Given the description of an element on the screen output the (x, y) to click on. 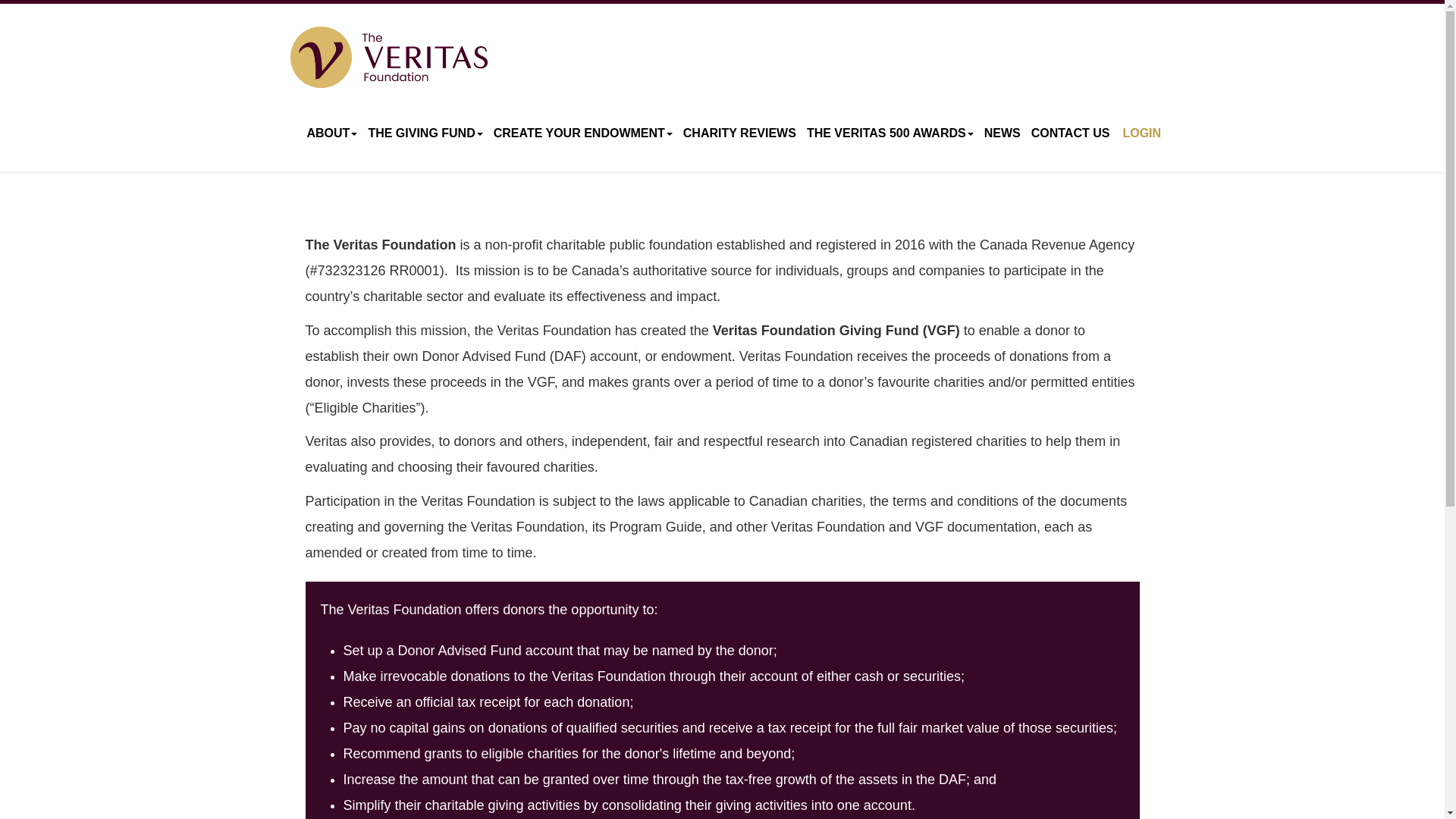
CREATE YOUR ENDOWMENT (582, 132)
CONTACT US (1070, 132)
CHARITY REVIEWS (740, 132)
NEWS (1002, 132)
THE VERITAS 500 AWARDS (890, 132)
Veritas Foundation (387, 56)
THE GIVING FUND (424, 132)
ABOUT (331, 132)
LOGIN (1137, 142)
